Given the description of an element on the screen output the (x, y) to click on. 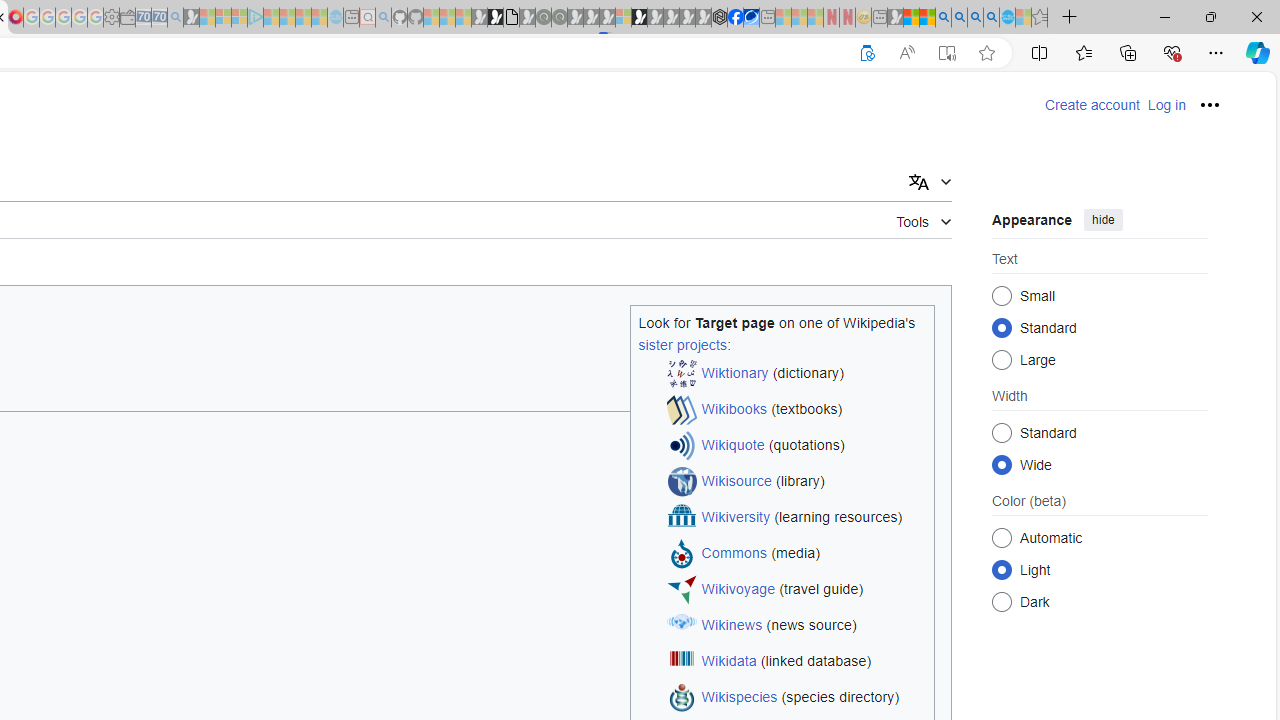
Favorites - Sleeping (1039, 17)
Commons (734, 553)
Wikinews (news source) (796, 626)
Wikispecies (739, 697)
Sign in to your account - Sleeping (623, 17)
Small (1002, 295)
Services - Maintenance | Sky Blue Bikes - Sky Blue Bikes (1007, 17)
Wallet - Sleeping (127, 17)
Tools (924, 218)
